Given the description of an element on the screen output the (x, y) to click on. 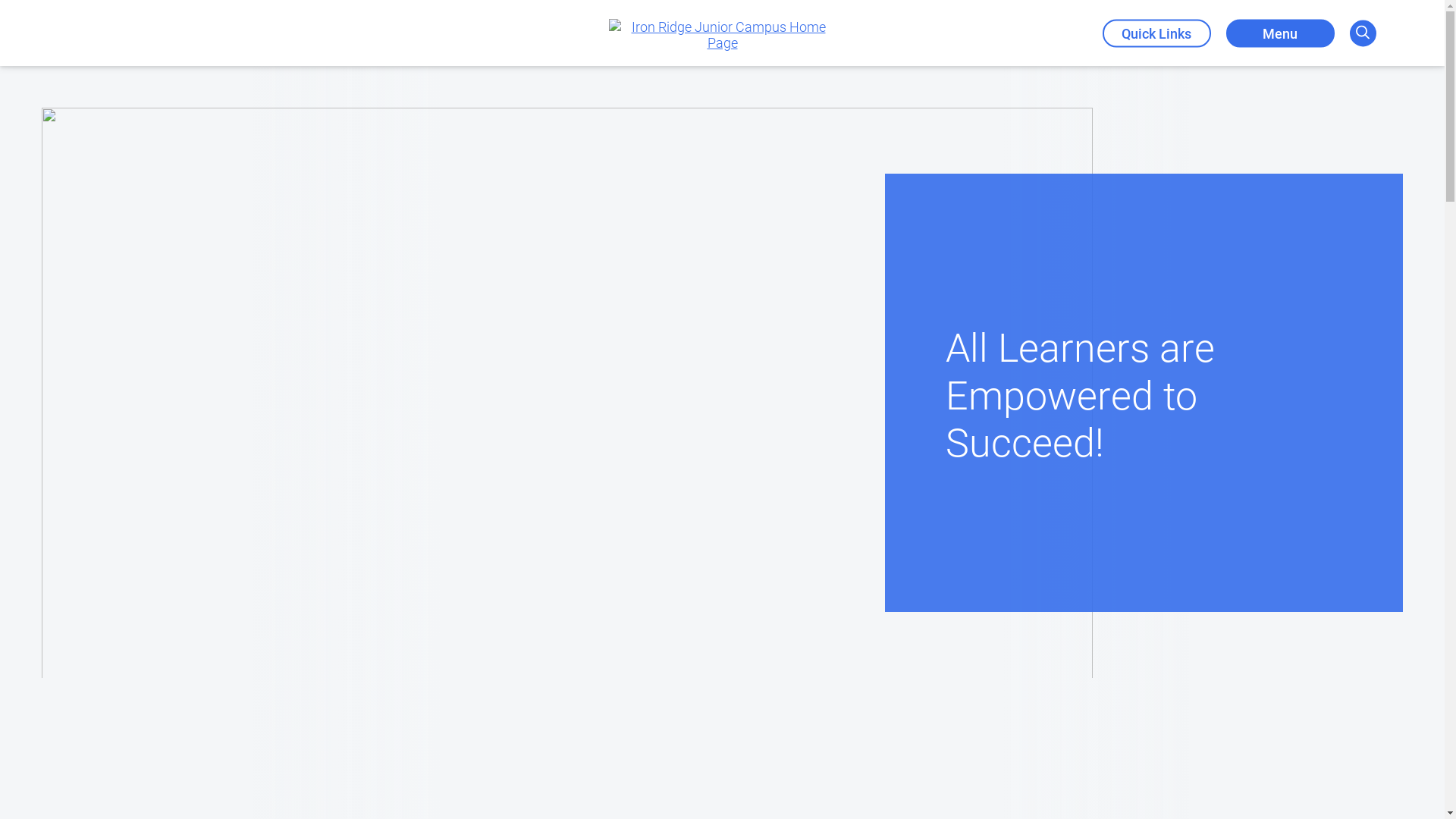
Menu Element type: text (1279, 32)
Quick Links Element type: text (1156, 32)
Search Element type: text (1362, 32)
home Element type: hover (721, 34)
